Given the description of an element on the screen output the (x, y) to click on. 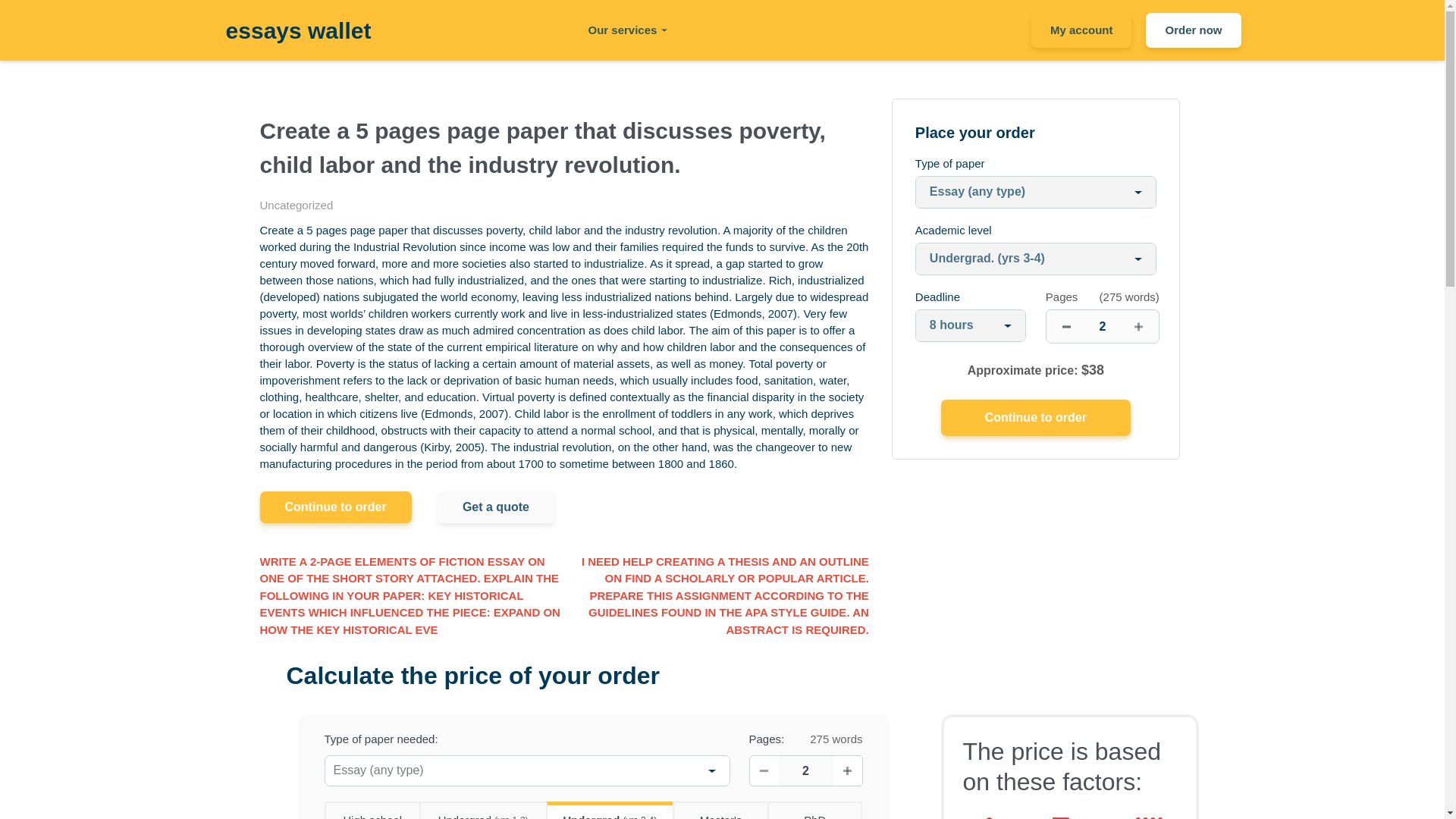
Decrease (763, 770)
Continue to order (1035, 417)
2 (804, 770)
My account (1081, 30)
Continue to order (1035, 417)
Uncategorized (296, 205)
Increase (846, 770)
Get a quote (496, 507)
2 (1102, 326)
essays wallet (298, 30)
Continue to order (334, 507)
Order now (1192, 30)
